Given the description of an element on the screen output the (x, y) to click on. 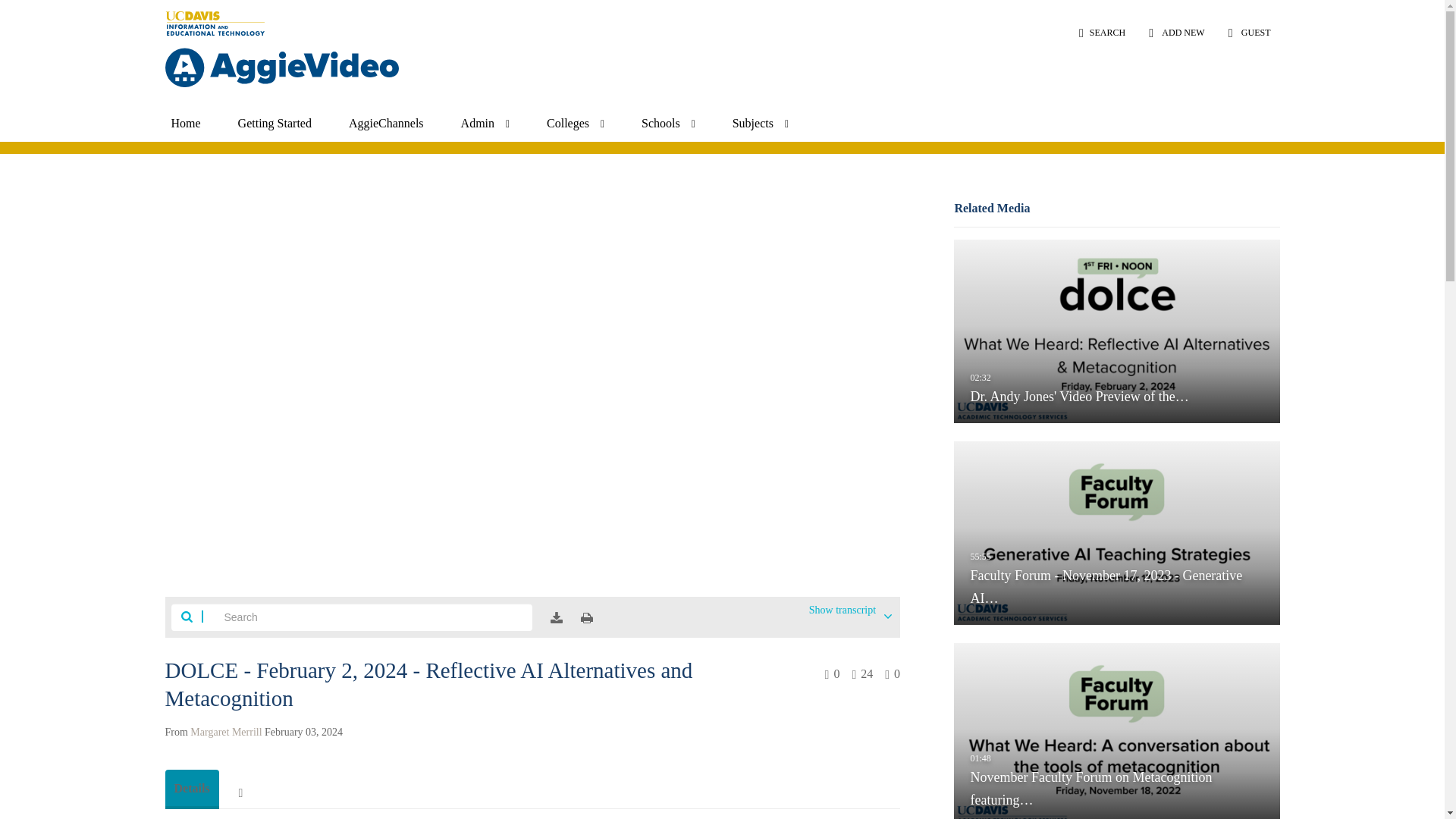
SEARCH (1101, 31)
Download (556, 617)
ADD NEW (1176, 31)
Home (185, 123)
Admin (484, 123)
AggieChannels (385, 123)
